Given the description of an element on the screen output the (x, y) to click on. 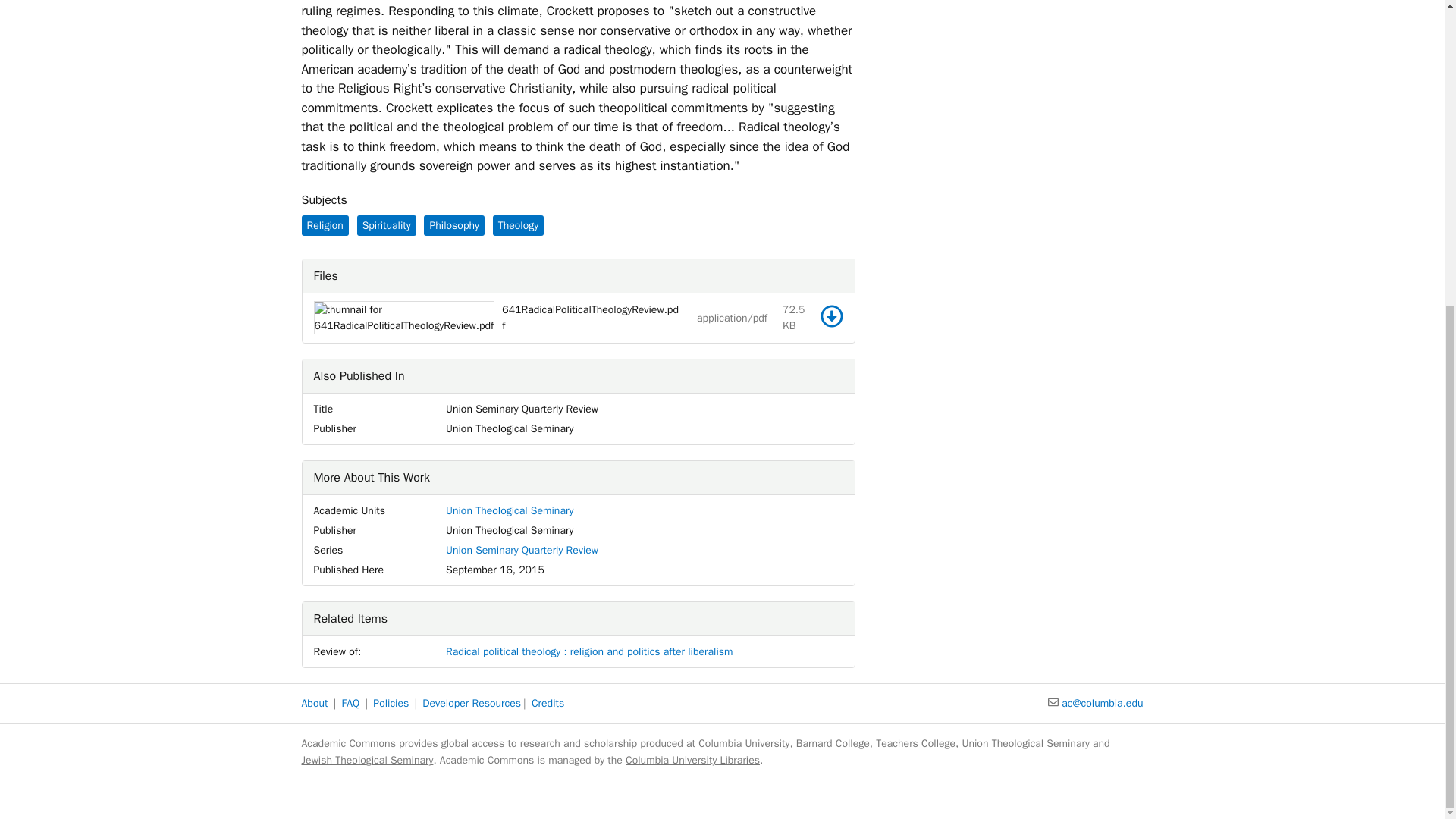
Philosophy (453, 225)
Download file (832, 315)
Barnard College (832, 743)
Developer Resources (471, 703)
Credits (547, 703)
Spirituality (386, 225)
About (315, 703)
Union Theological Seminary (509, 510)
Theology (518, 225)
